Given the description of an element on the screen output the (x, y) to click on. 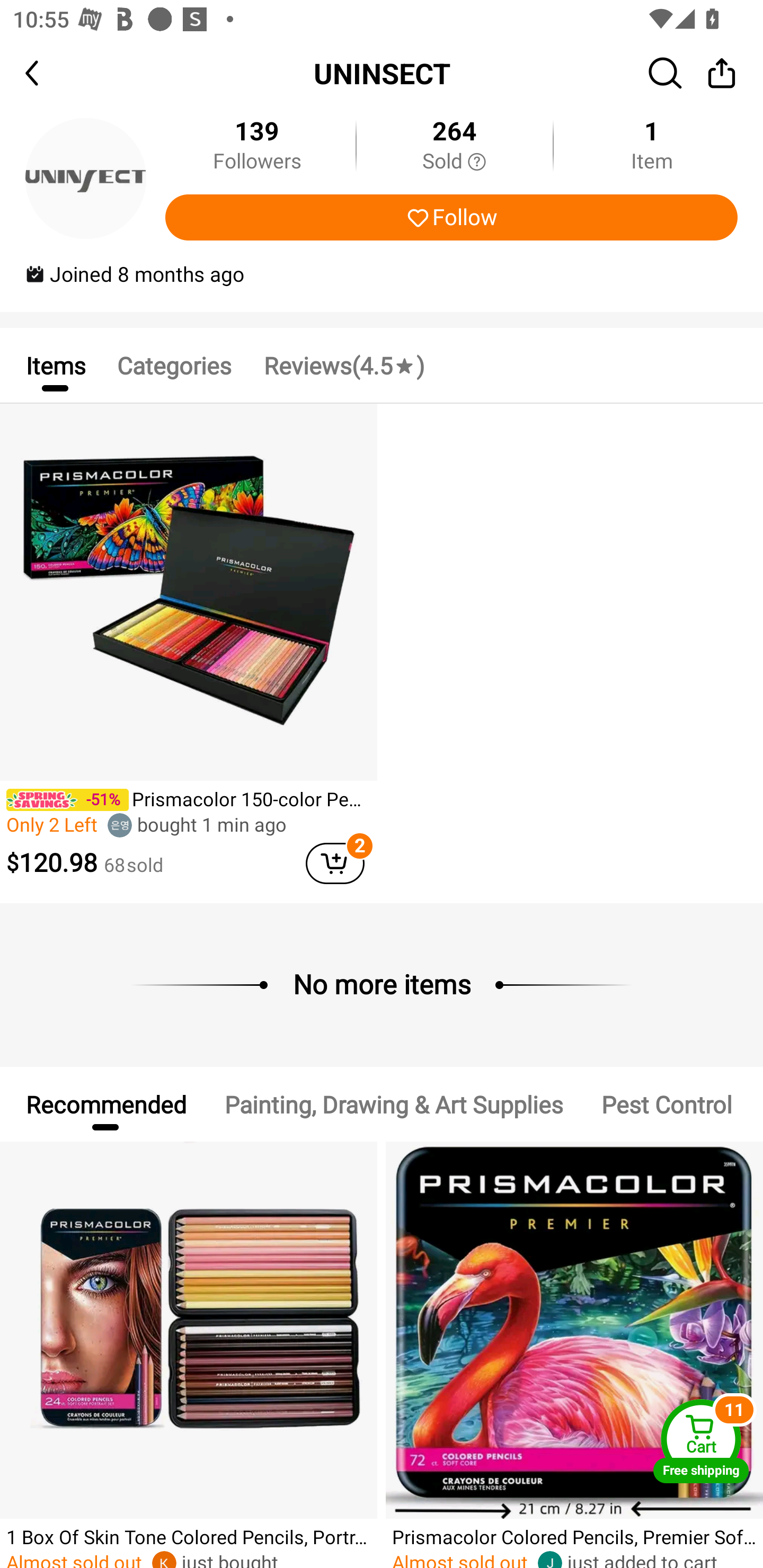
back (47, 72)
share (721, 72)
Sold (453, 161)
Items (55, 364)
Categories (174, 364)
Reviews(4.5 ) (343, 364)
cart delete (334, 863)
Recommended (105, 1103)
Painting, Drawing & Art Supplies (393, 1103)
Pest Control (666, 1103)
Cart Free shipping Cart (701, 1440)
